Given the description of an element on the screen output the (x, y) to click on. 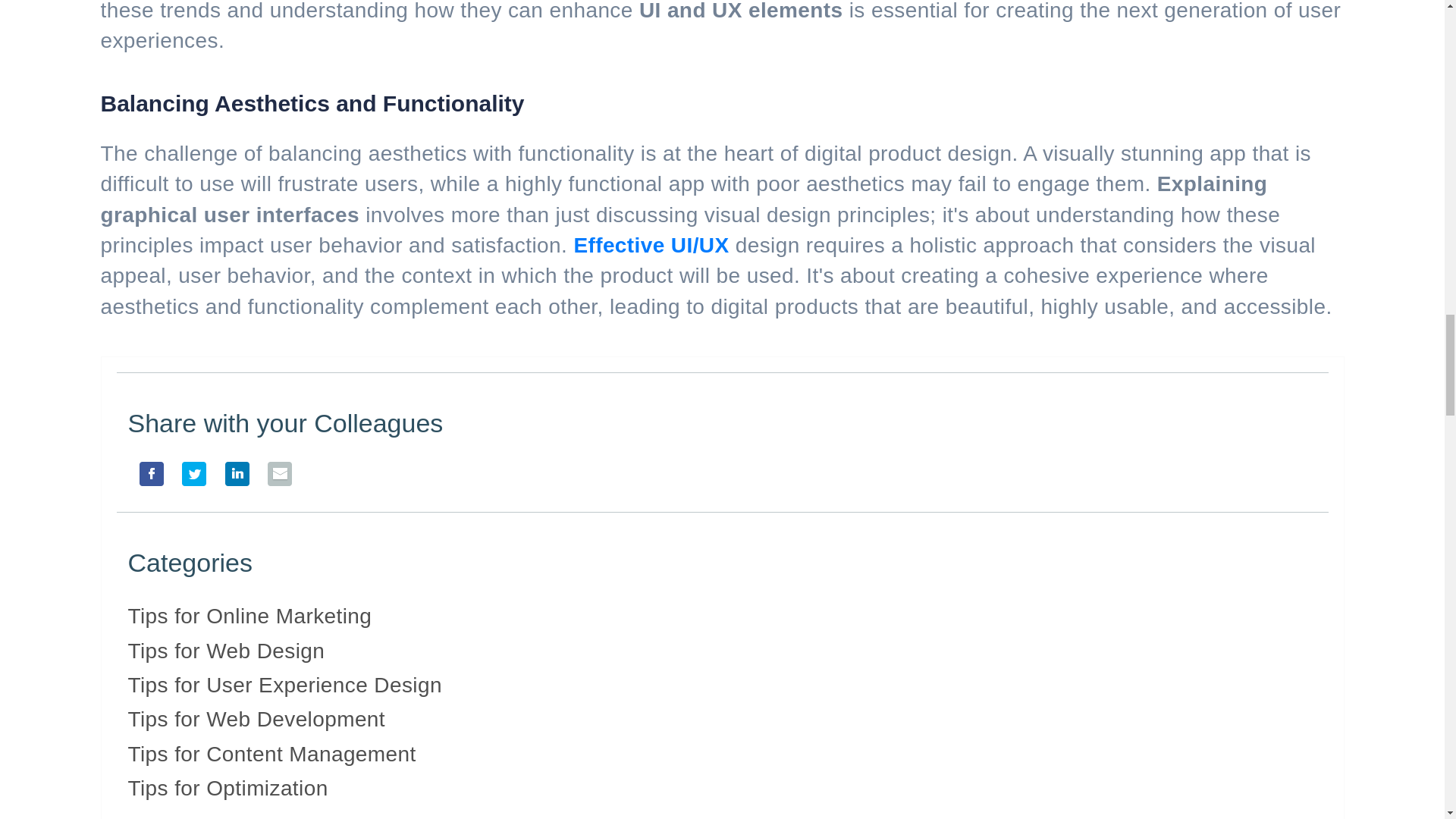
Tips for User Experience Design (284, 684)
Email (275, 479)
Tips for Optimization (227, 788)
Tips for Content Management (271, 753)
Tips for Web Development (256, 719)
Tips for Online Marketing (249, 616)
Facebook (146, 479)
Tips for Web Design (226, 650)
LinkedIn (231, 479)
Twitter (189, 479)
